Given the description of an element on the screen output the (x, y) to click on. 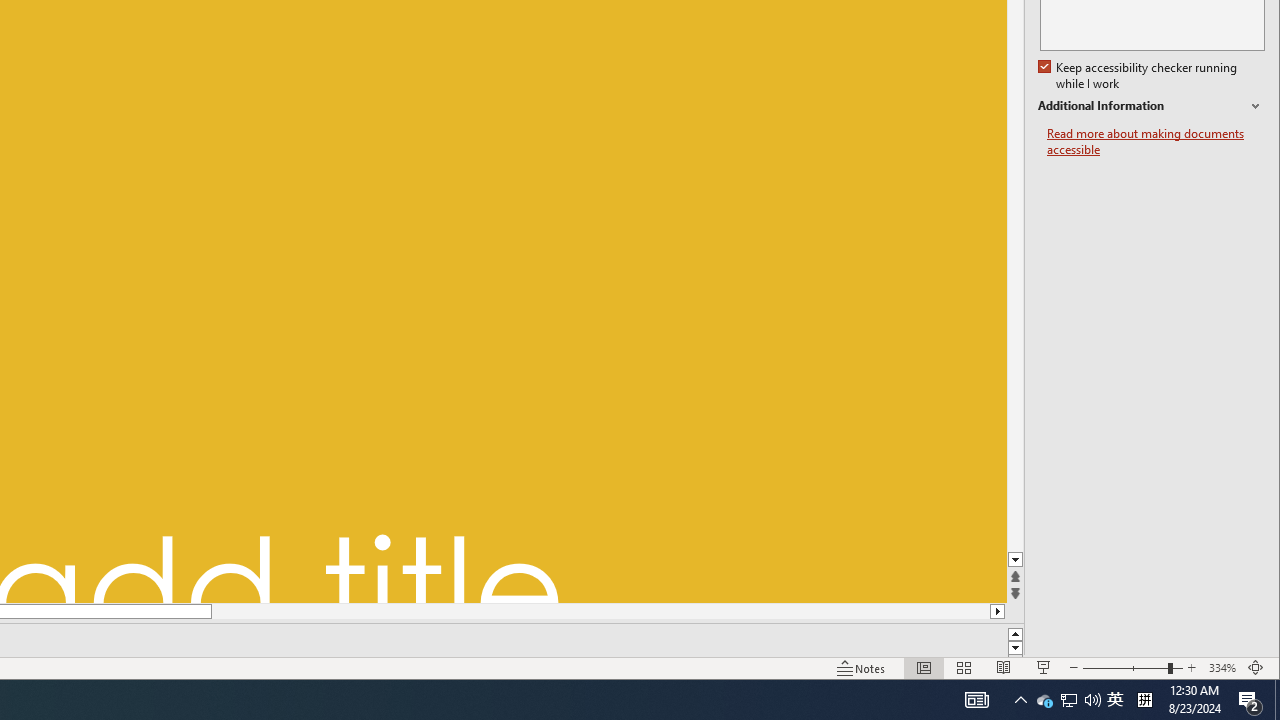
Zoom 334% (1222, 668)
Read more about making documents accessible (1044, 699)
